Given the description of an element on the screen output the (x, y) to click on. 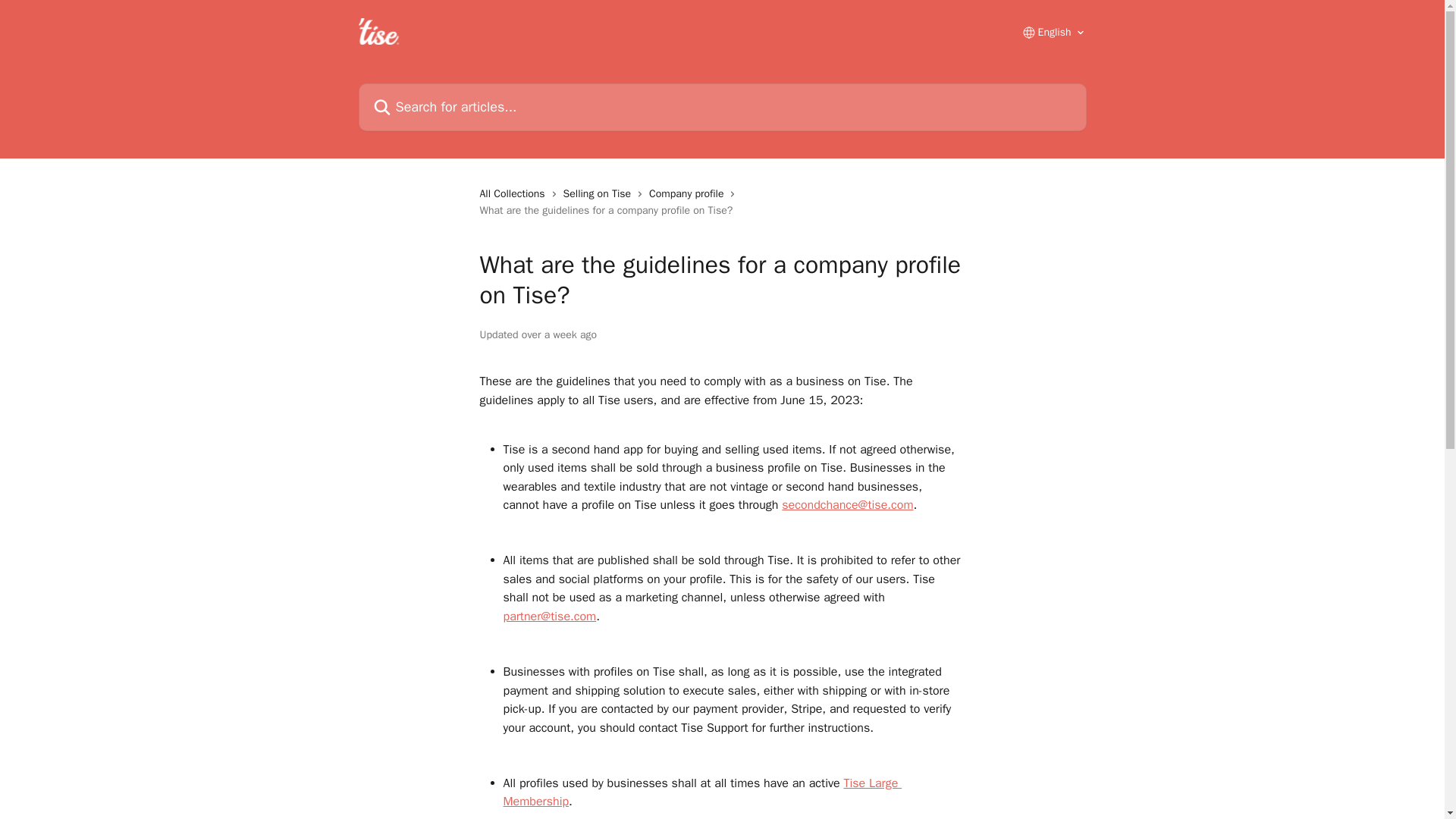
Company profile (689, 193)
Selling on Tise (600, 193)
All Collections (514, 193)
Tise Large Membership (702, 792)
